Given the description of an element on the screen output the (x, y) to click on. 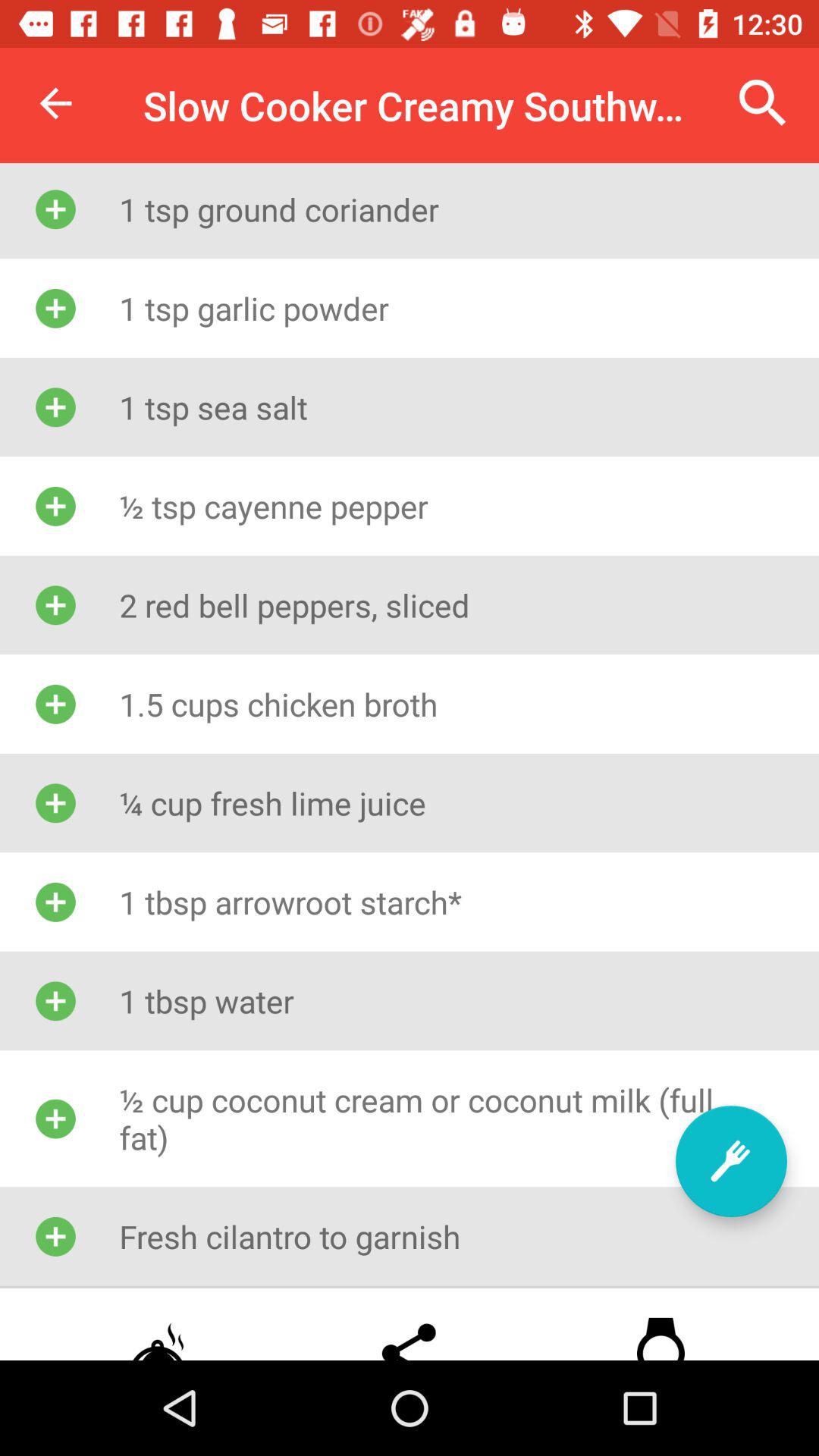
menu toggle (731, 1161)
